Given the description of an element on the screen output the (x, y) to click on. 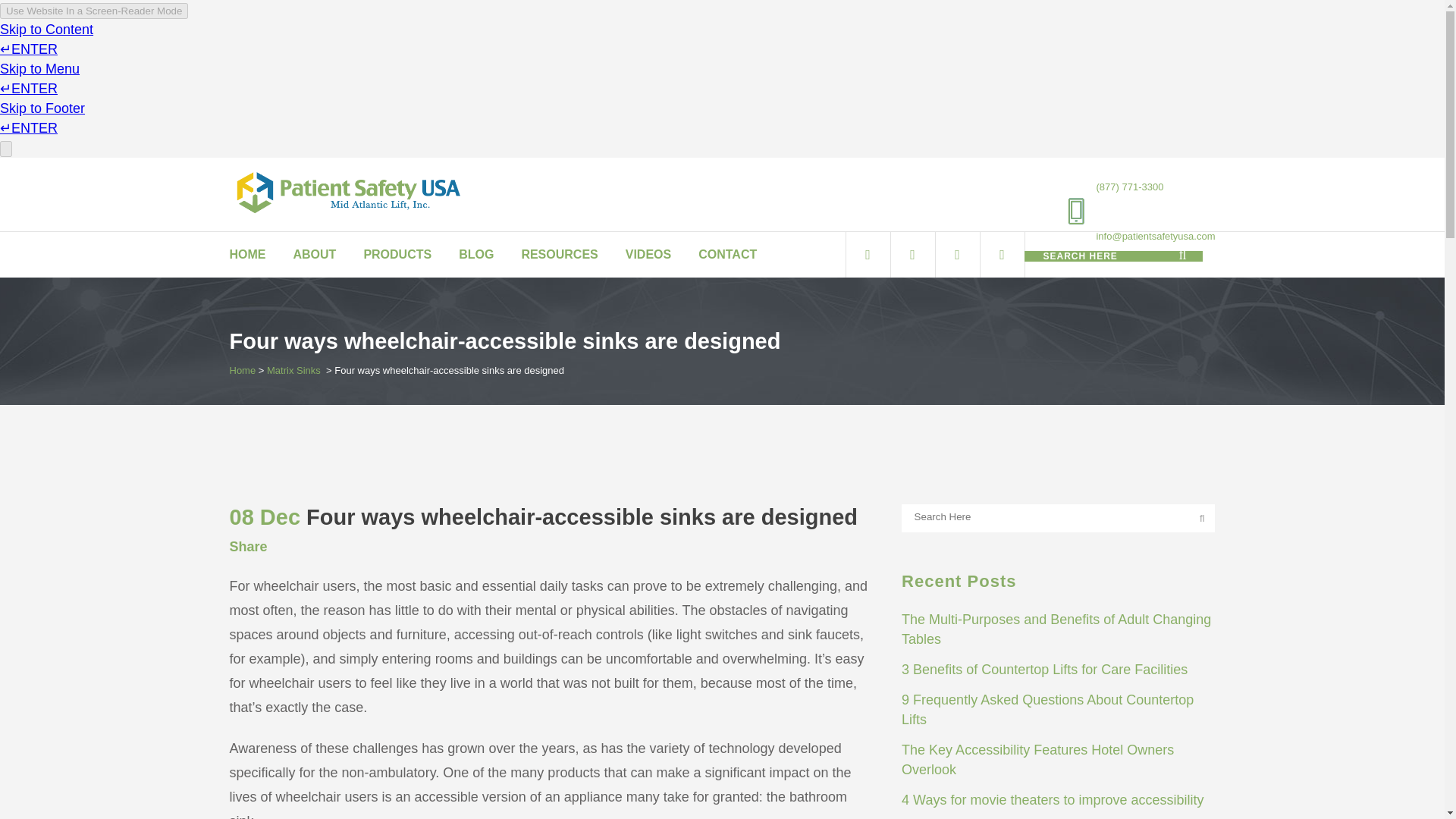
HOME (253, 254)
CONTACT (727, 254)
RESOURCES (558, 254)
VIDEOS (647, 254)
PRODUCTS (397, 254)
BLOG (475, 254)
ABOUT (314, 254)
